Given the description of an element on the screen output the (x, y) to click on. 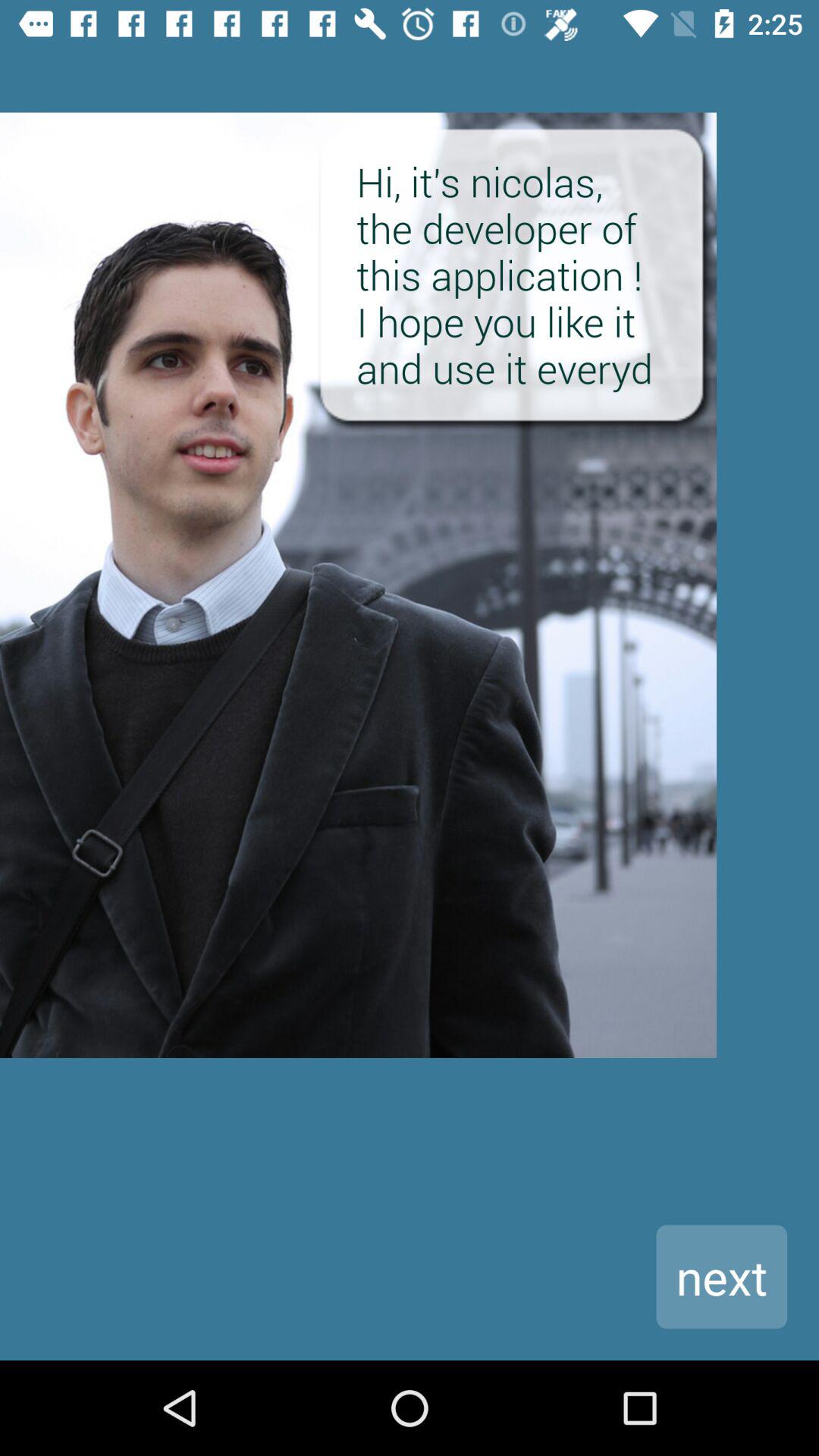
press the next icon (721, 1276)
